Given the description of an element on the screen output the (x, y) to click on. 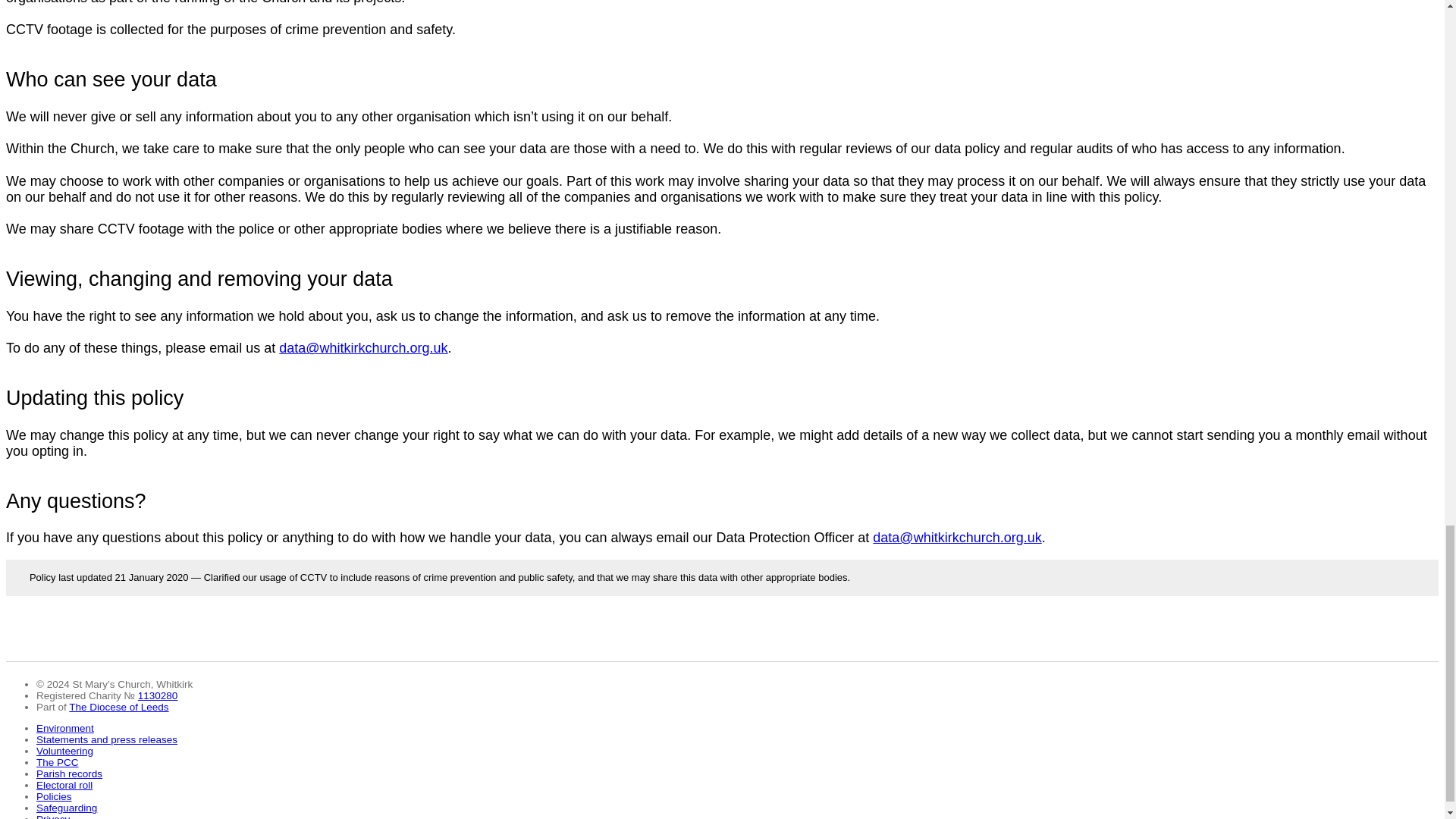
Statements and press releases (106, 739)
Safeguarding (66, 808)
The PCC (57, 762)
Volunteering (64, 750)
The Diocese of Leeds (118, 706)
Environment (65, 727)
Electoral roll (64, 785)
1130280 (157, 695)
Parish records (68, 773)
Policies (53, 796)
